Given the description of an element on the screen output the (x, y) to click on. 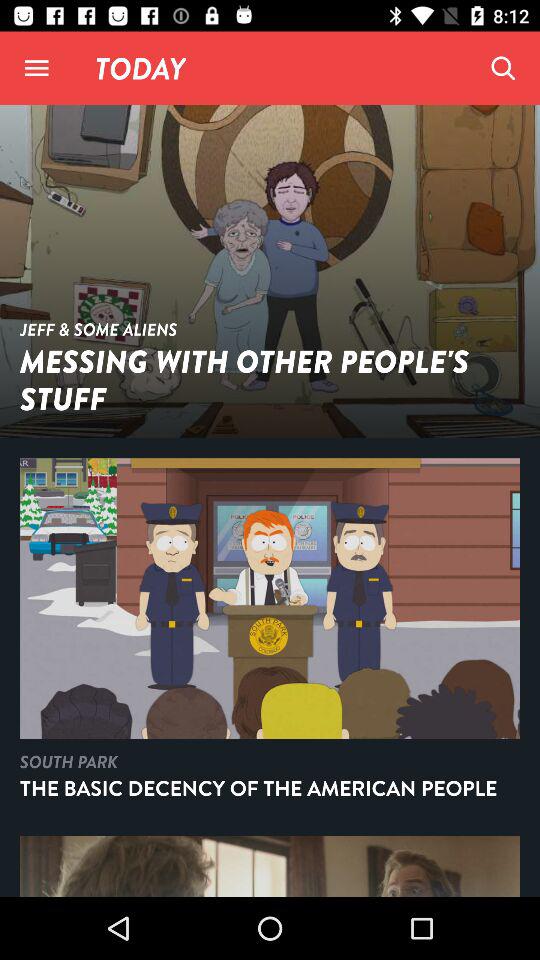
menu button (36, 68)
